Given the description of an element on the screen output the (x, y) to click on. 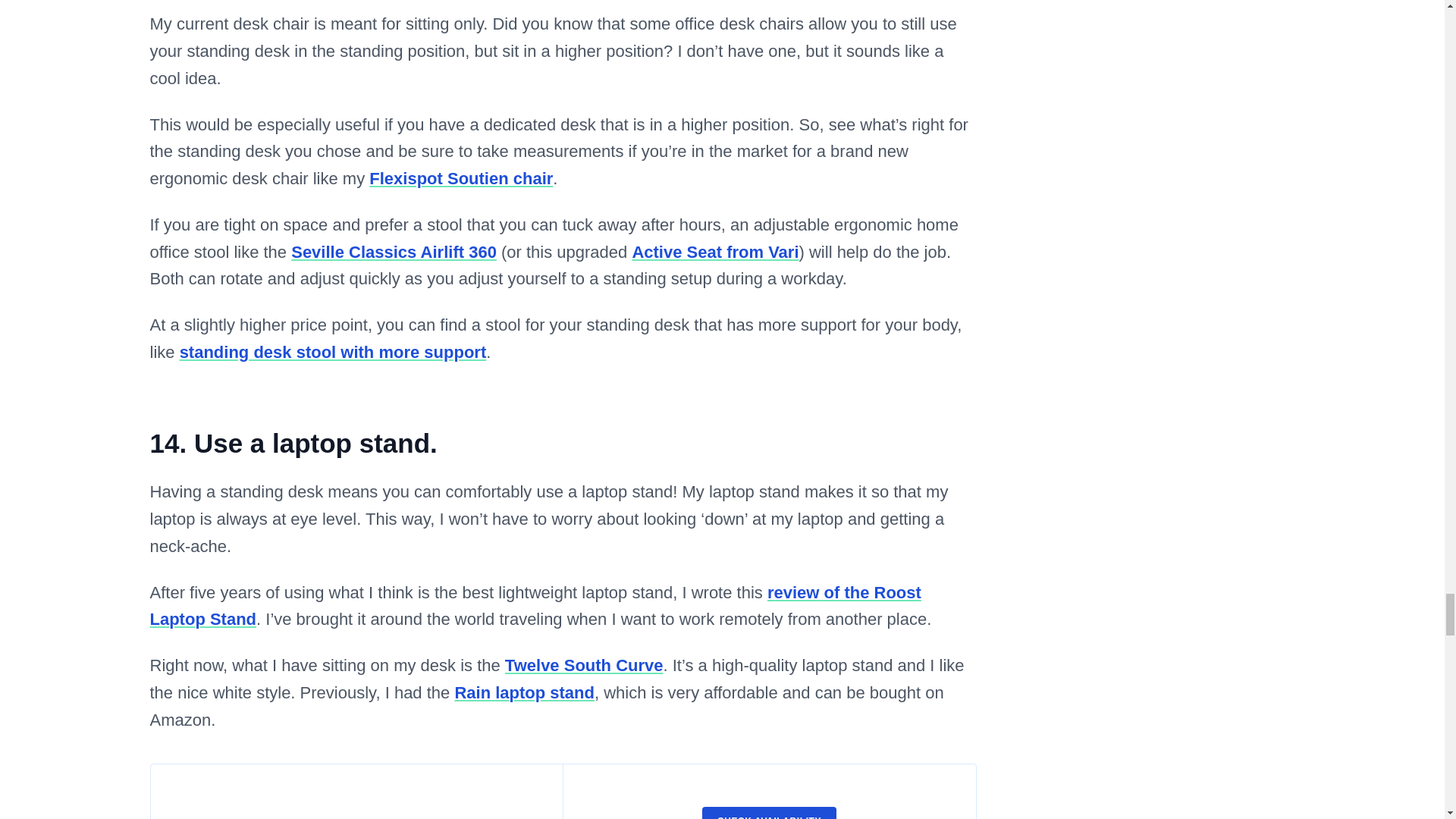
Seville Classics Airlift 360 (393, 251)
Active Seat from Vari (714, 251)
Flexispot Soutien chair (461, 178)
